Given the description of an element on the screen output the (x, y) to click on. 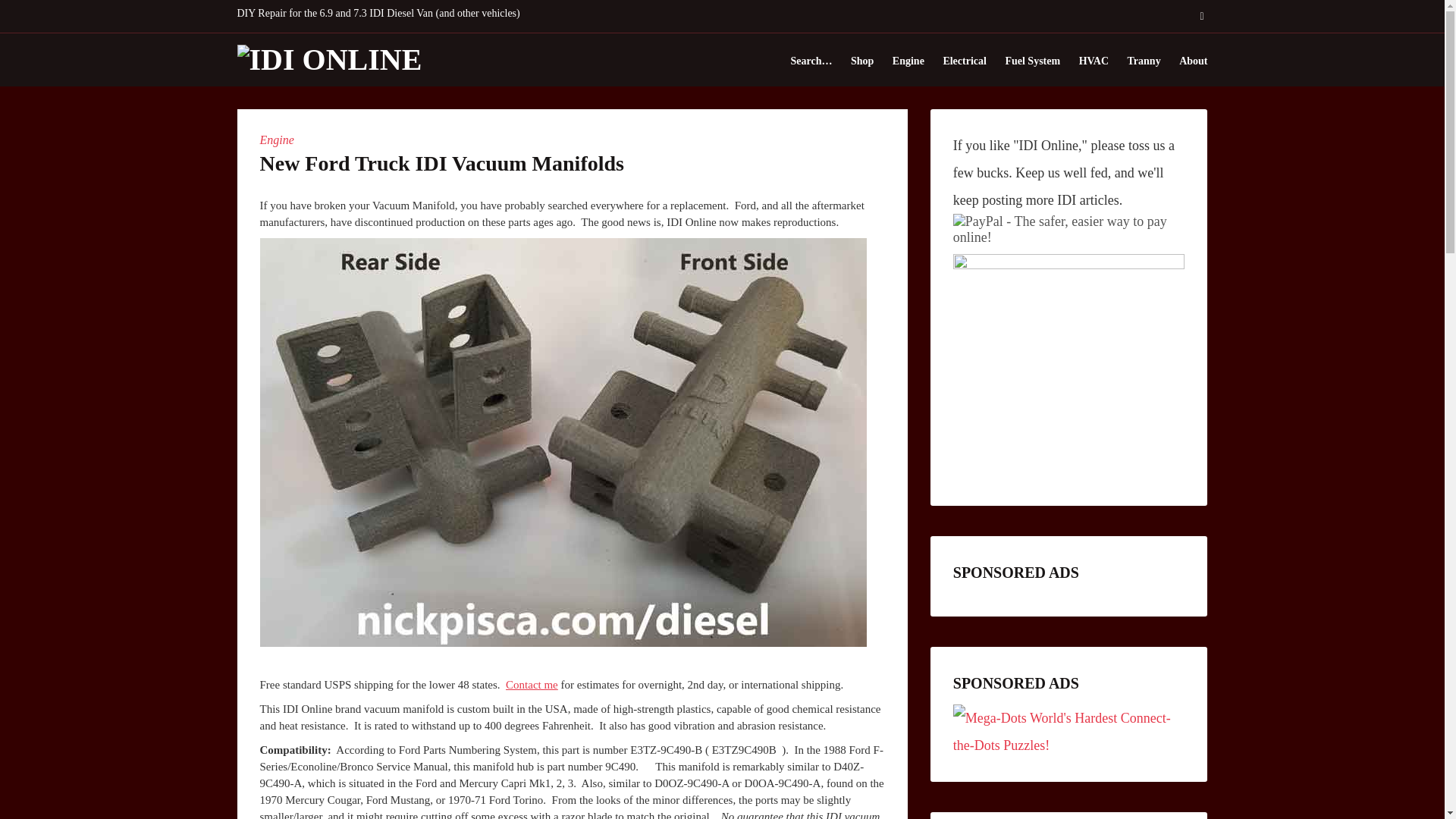
About (1193, 61)
Contact me (531, 684)
HVAC (1093, 61)
Engine (908, 61)
Electrical (964, 61)
Engine (276, 139)
Shop (861, 61)
New Ford Truck IDI Vacuum Manifolds (441, 163)
Tranny (1143, 61)
Fuel System (1031, 61)
